Given the description of an element on the screen output the (x, y) to click on. 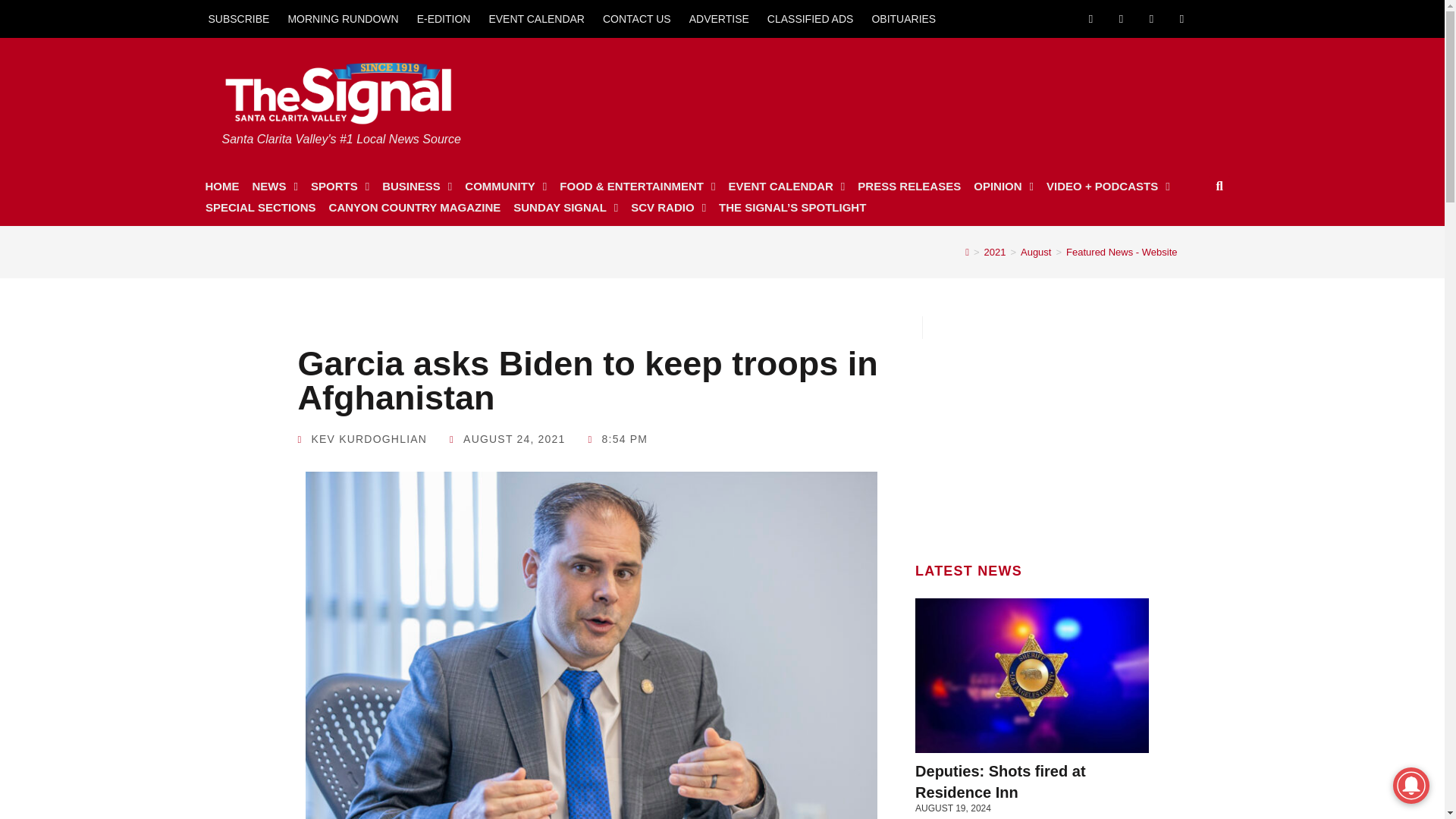
SPORTS (339, 186)
ADVERTISE (718, 18)
SUBSCRIBE (238, 18)
EVENT CALENDAR (536, 18)
3rd party ad content (932, 94)
MORNING RUNDOWN (342, 18)
3rd party ad content (1031, 433)
CONTACT US (636, 18)
CLASSIFIED ADS (810, 18)
E-EDITION (443, 18)
